Given the description of an element on the screen output the (x, y) to click on. 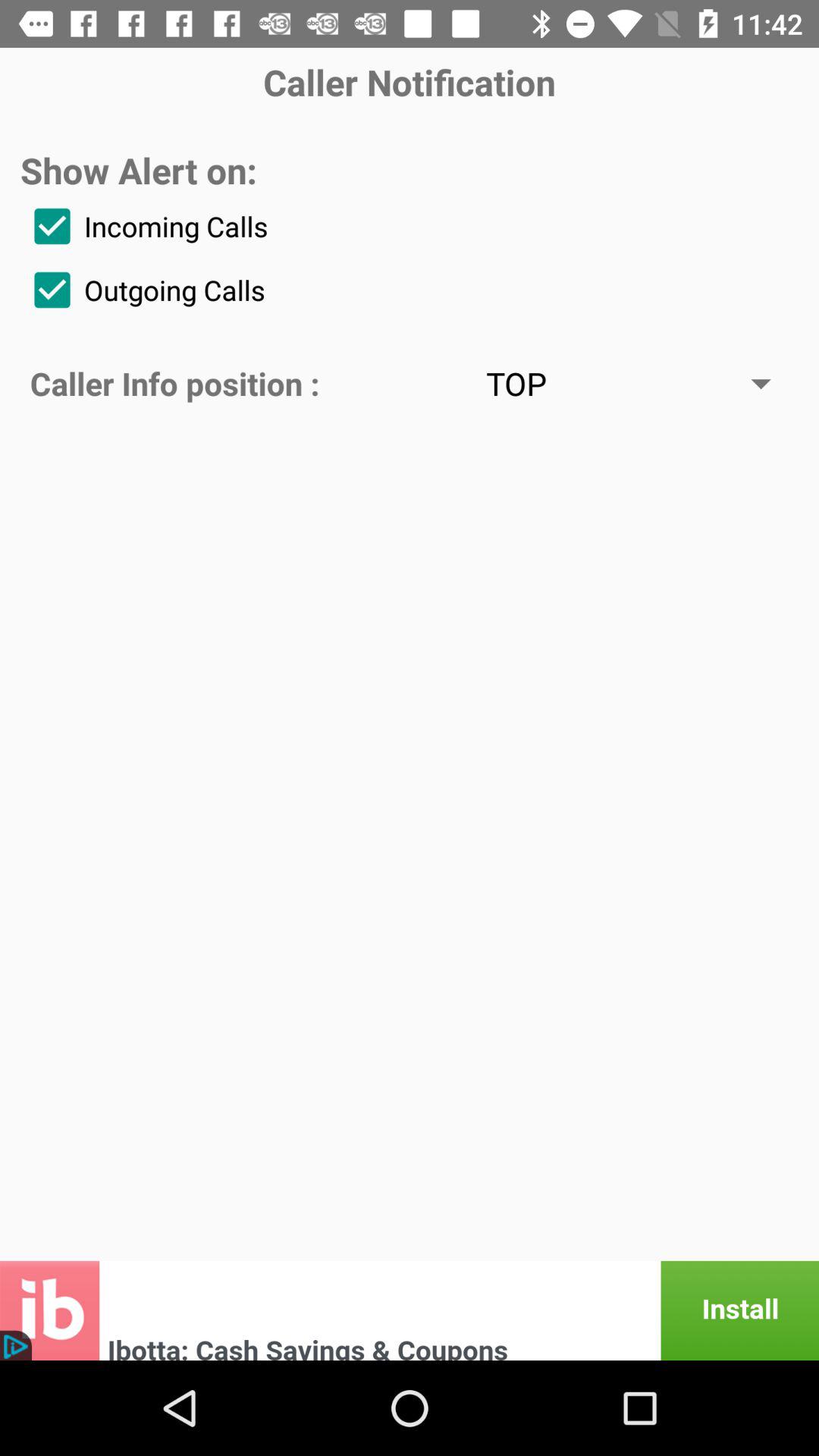
advertisement (409, 1310)
